Given the description of an element on the screen output the (x, y) to click on. 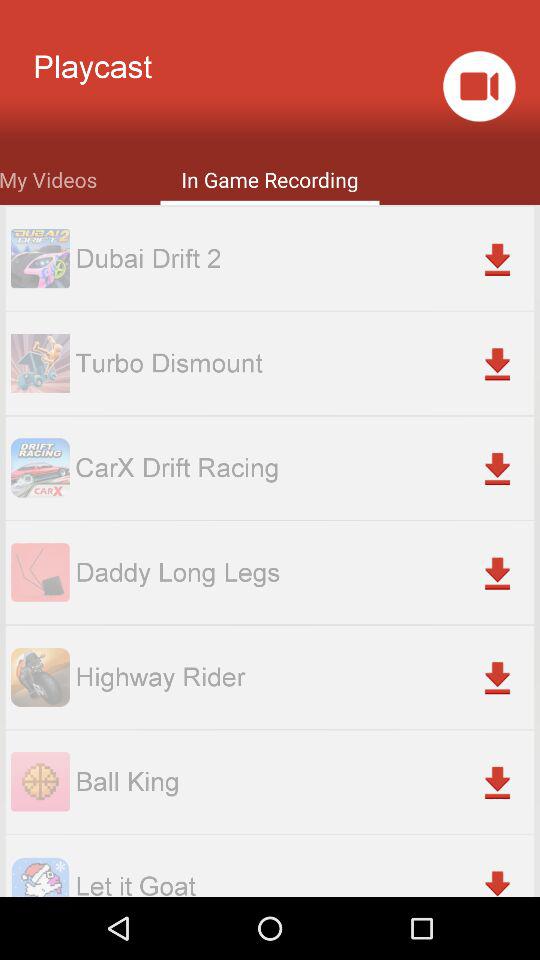
turn on ball king item (304, 781)
